Given the description of an element on the screen output the (x, y) to click on. 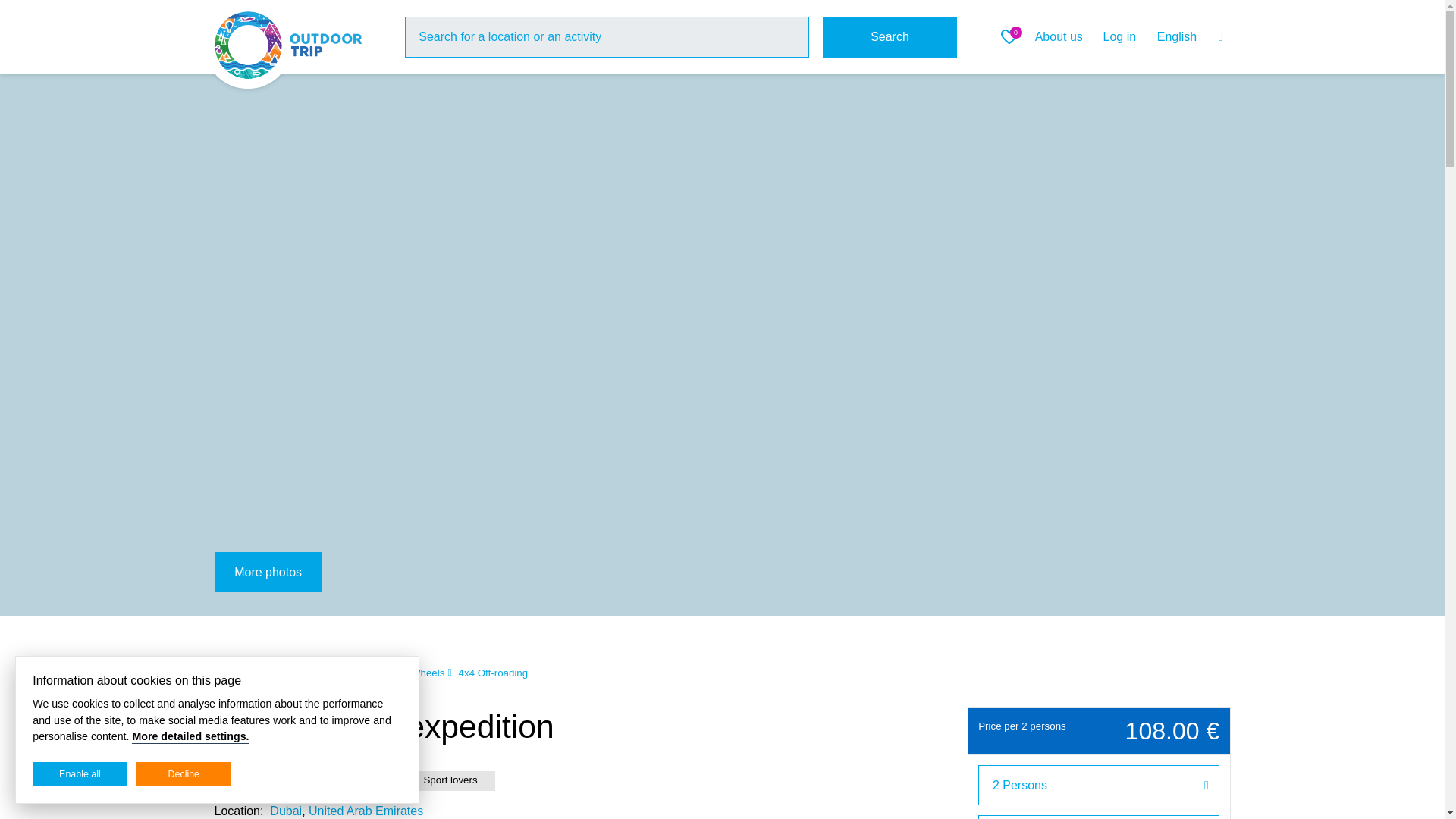
Dubai (336, 672)
About us (1059, 37)
Date and time (1099, 816)
2 Persons (1099, 784)
0 (1011, 36)
More photos (267, 572)
Dubai (285, 810)
Search (890, 36)
Log in (1118, 37)
4x4 Off-roading (493, 672)
United Arab Emirates (261, 672)
Bikes and Wheels (404, 672)
English (1190, 36)
United Arab Emirates (365, 810)
